Given the description of an element on the screen output the (x, y) to click on. 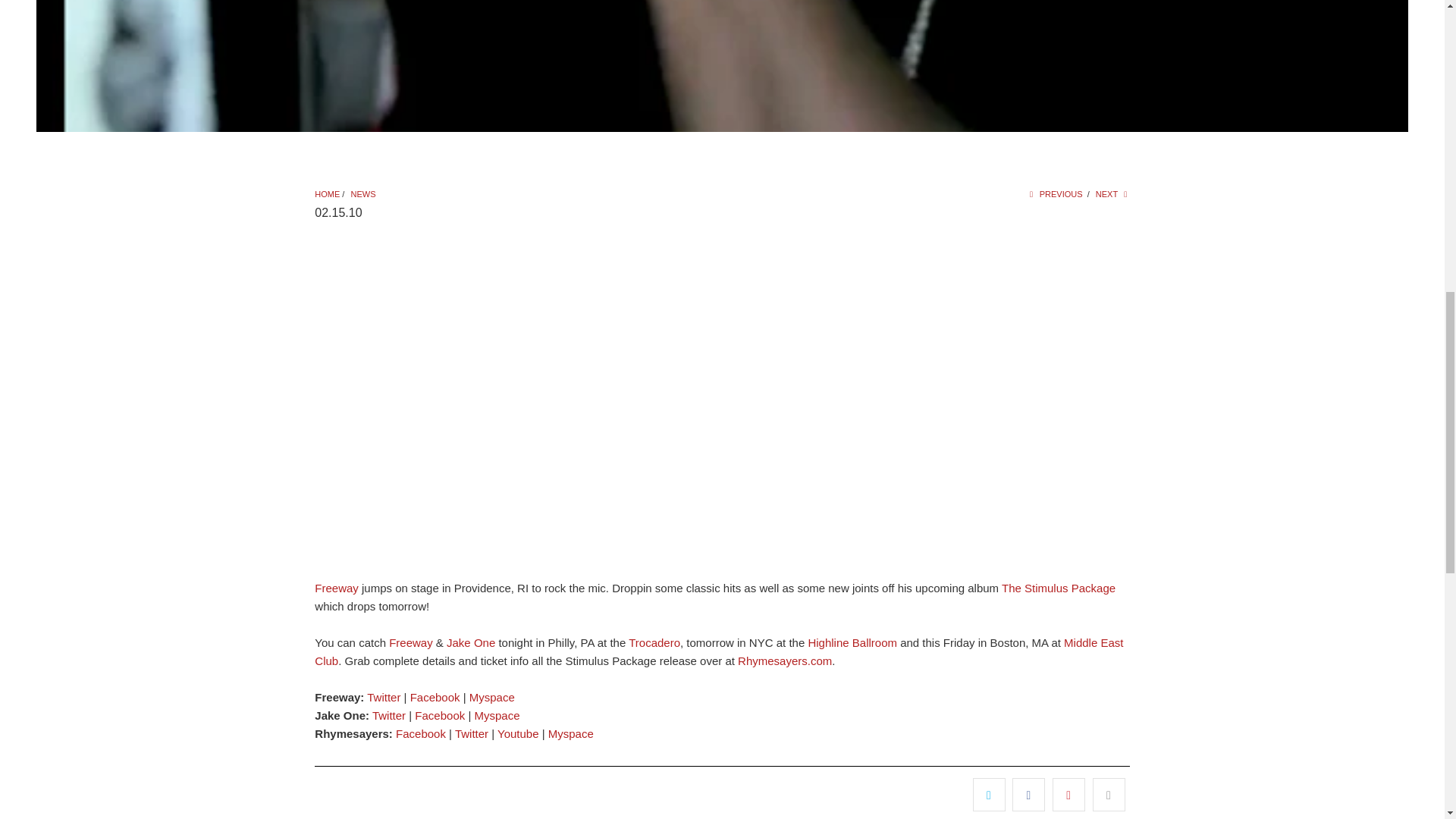
Opens in a new window (383, 697)
Opens in a new window (496, 715)
Opens in a new window (491, 697)
Opens in a new window (435, 697)
News (362, 194)
Opens in a new window (420, 733)
Opens in a new window (470, 733)
Opens in a new window (439, 715)
Rhymesayers Entertainment  (326, 194)
Opens in a new window (389, 715)
